Given the description of an element on the screen output the (x, y) to click on. 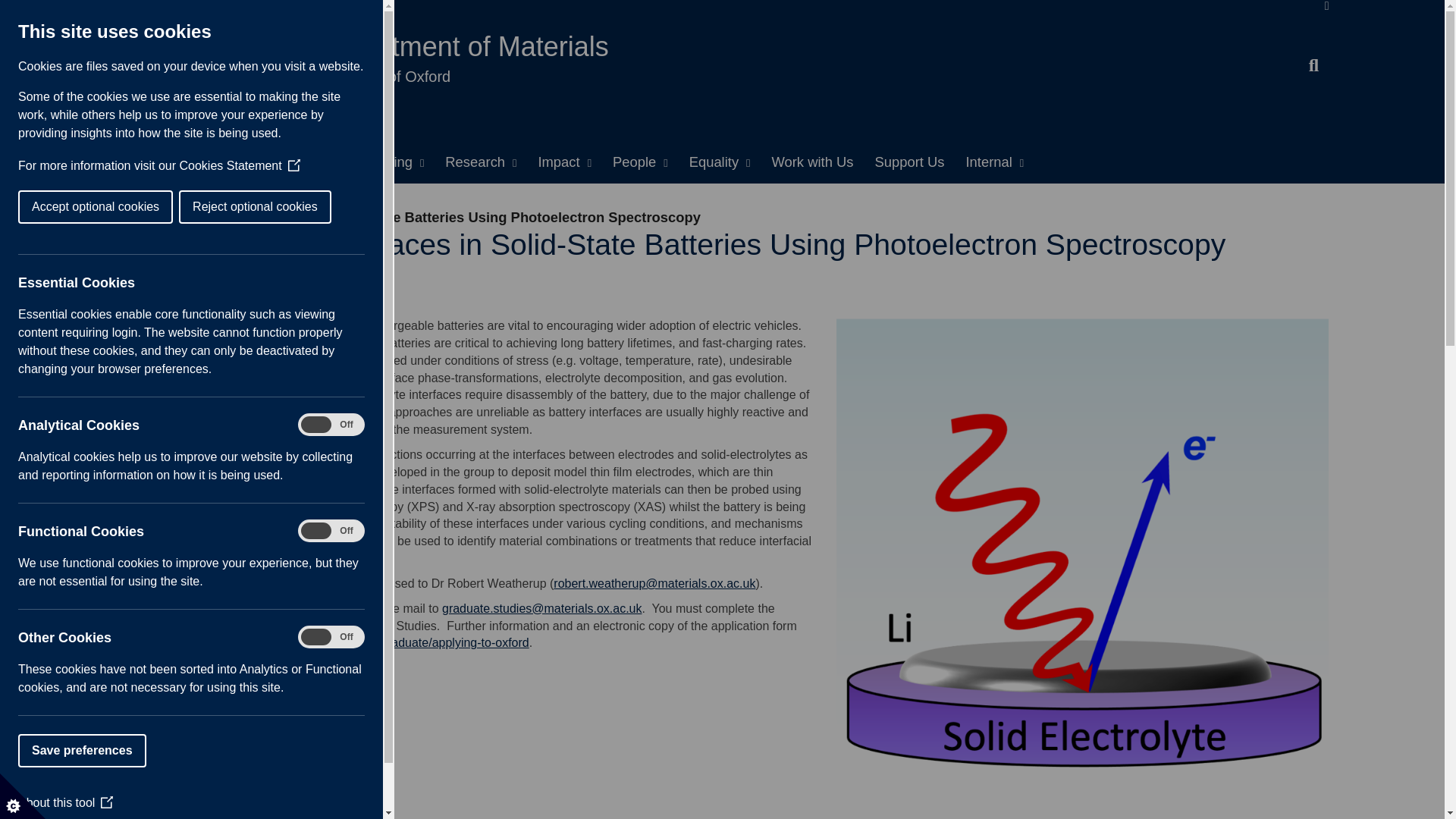
Department of Materials (462, 46)
News (207, 161)
Home (144, 161)
Admissions (293, 161)
Reject optional cookies (115, 206)
Save preferences (15, 750)
Teaching (389, 161)
